Given the description of an element on the screen output the (x, y) to click on. 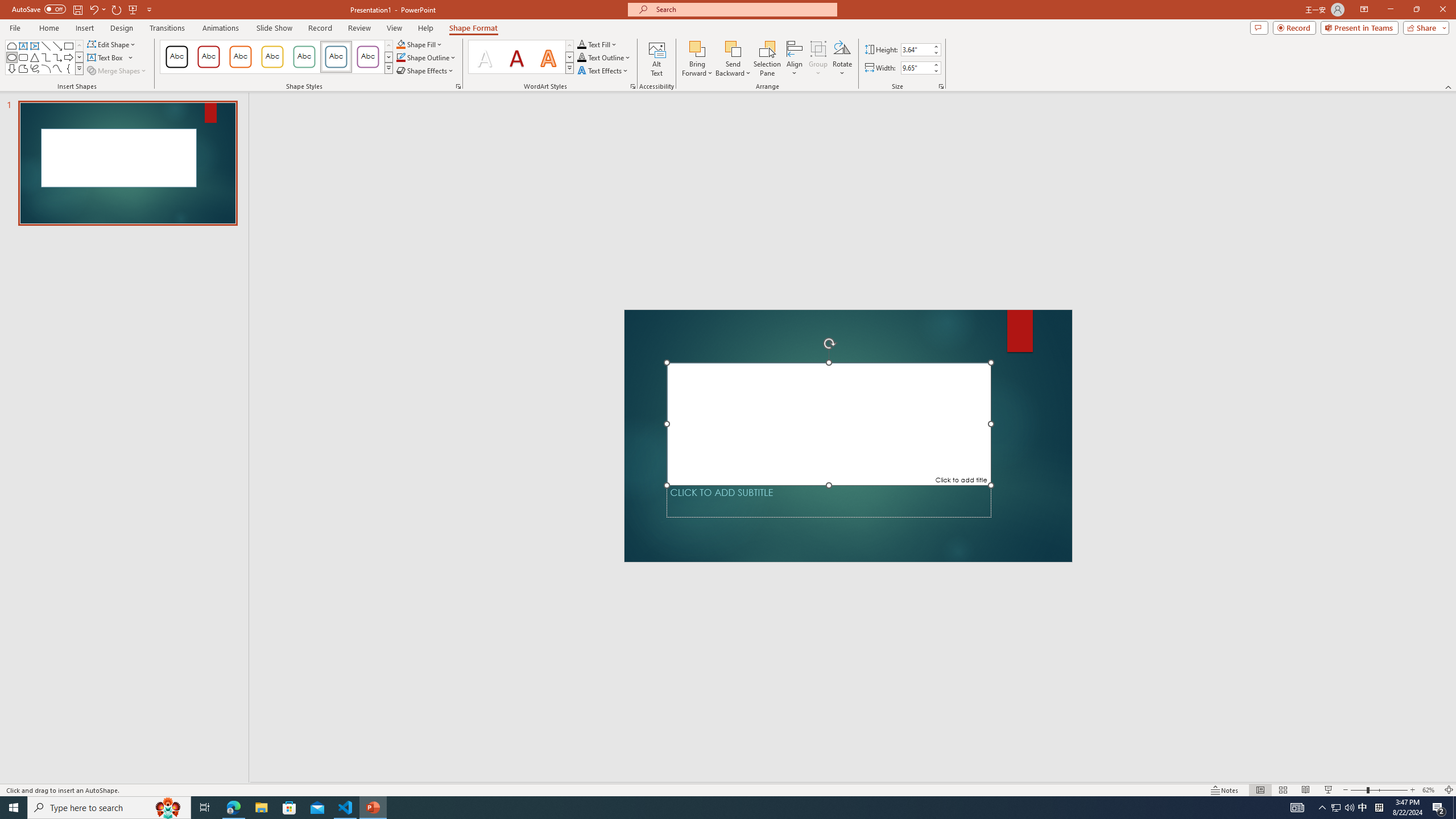
Colored Outline - Black, Dark 1 (176, 56)
Colored Outline - Dark Red, Accent 1 (208, 56)
Subtitle TextBox (828, 500)
Zoom 62% (1430, 790)
Text Outline RGB(0, 0, 0) (581, 56)
